Given the description of an element on the screen output the (x, y) to click on. 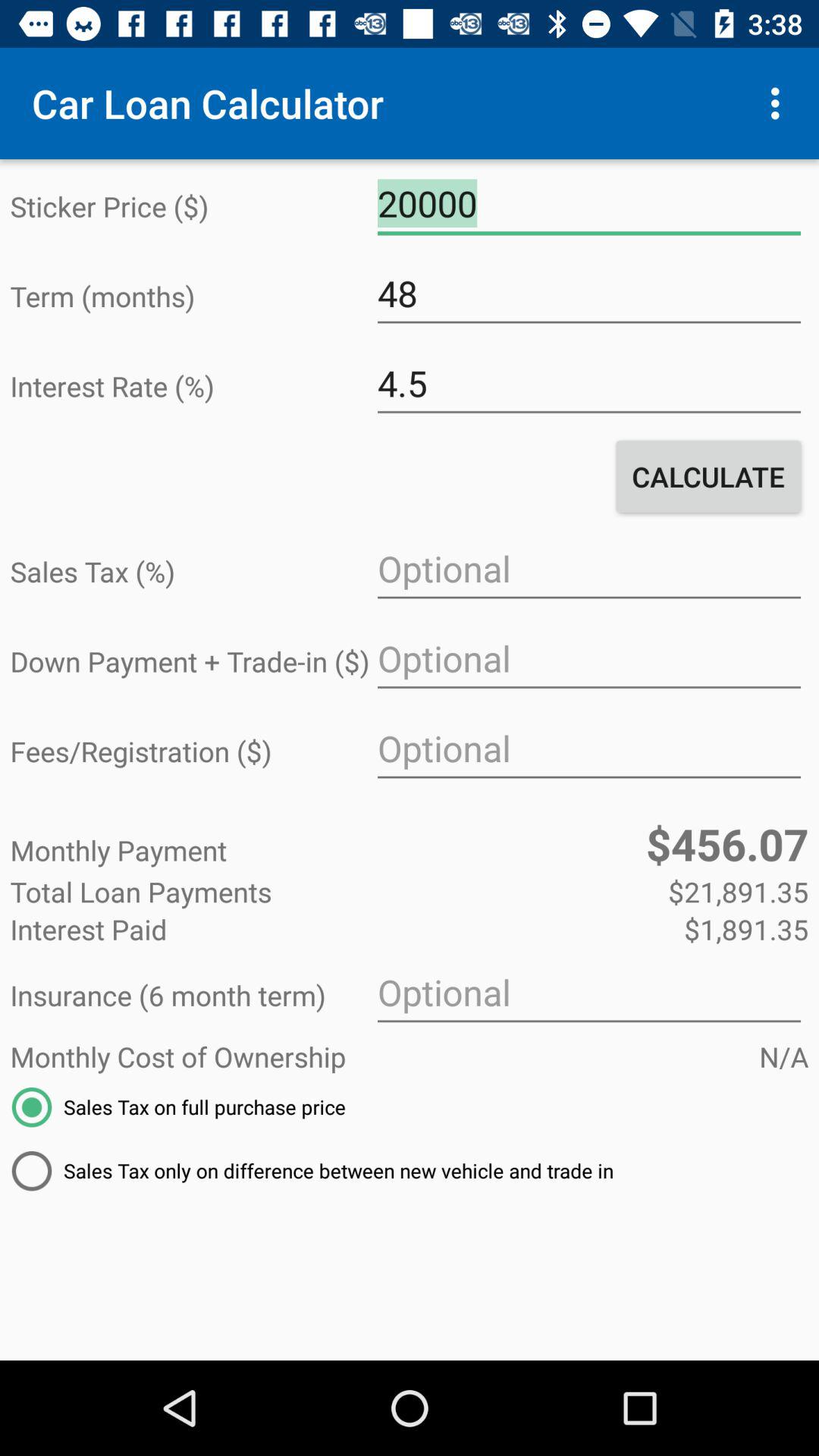
because back devicer (588, 748)
